Given the description of an element on the screen output the (x, y) to click on. 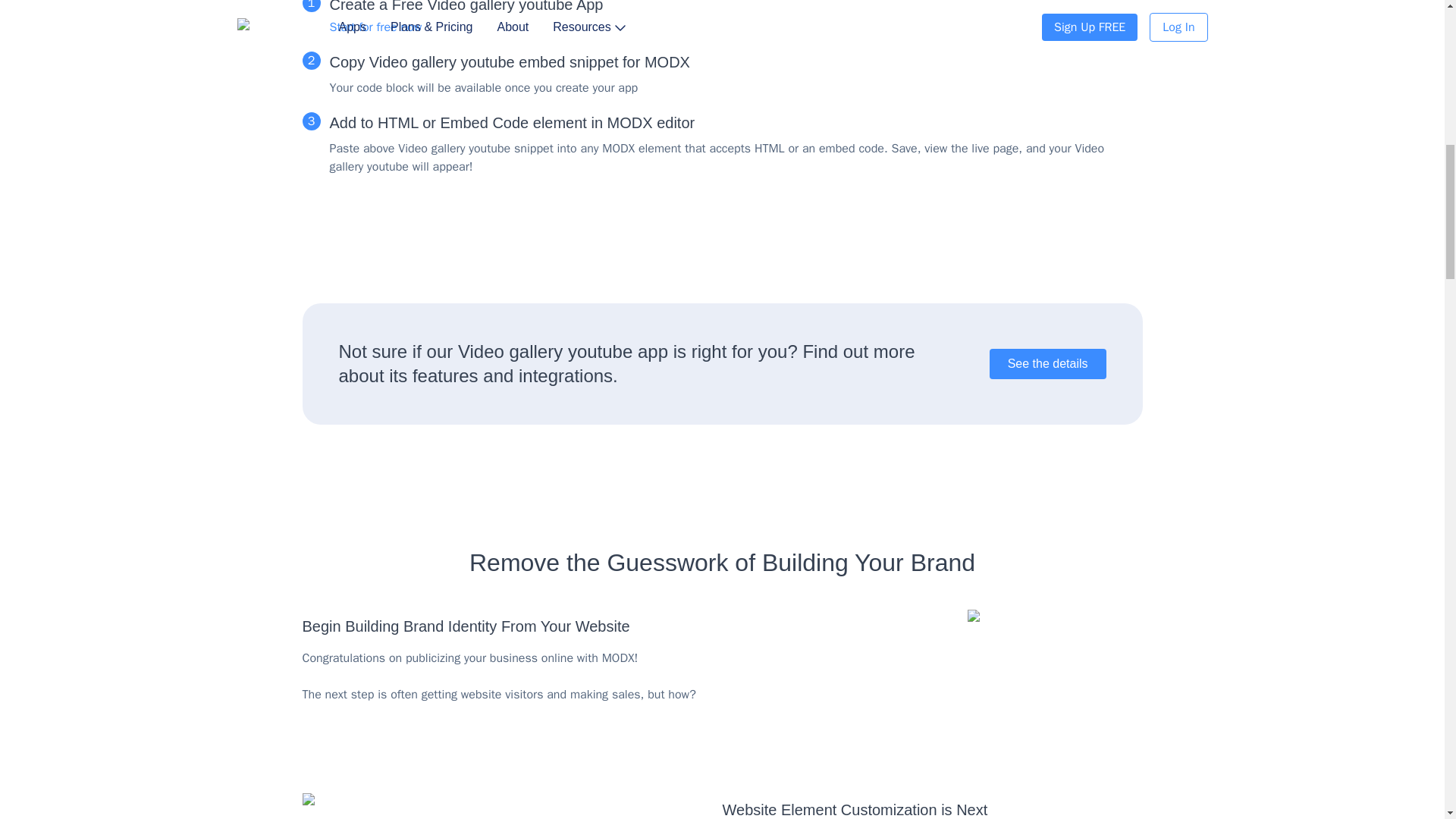
Start for free now (375, 25)
See the details (1048, 363)
